Given the description of an element on the screen output the (x, y) to click on. 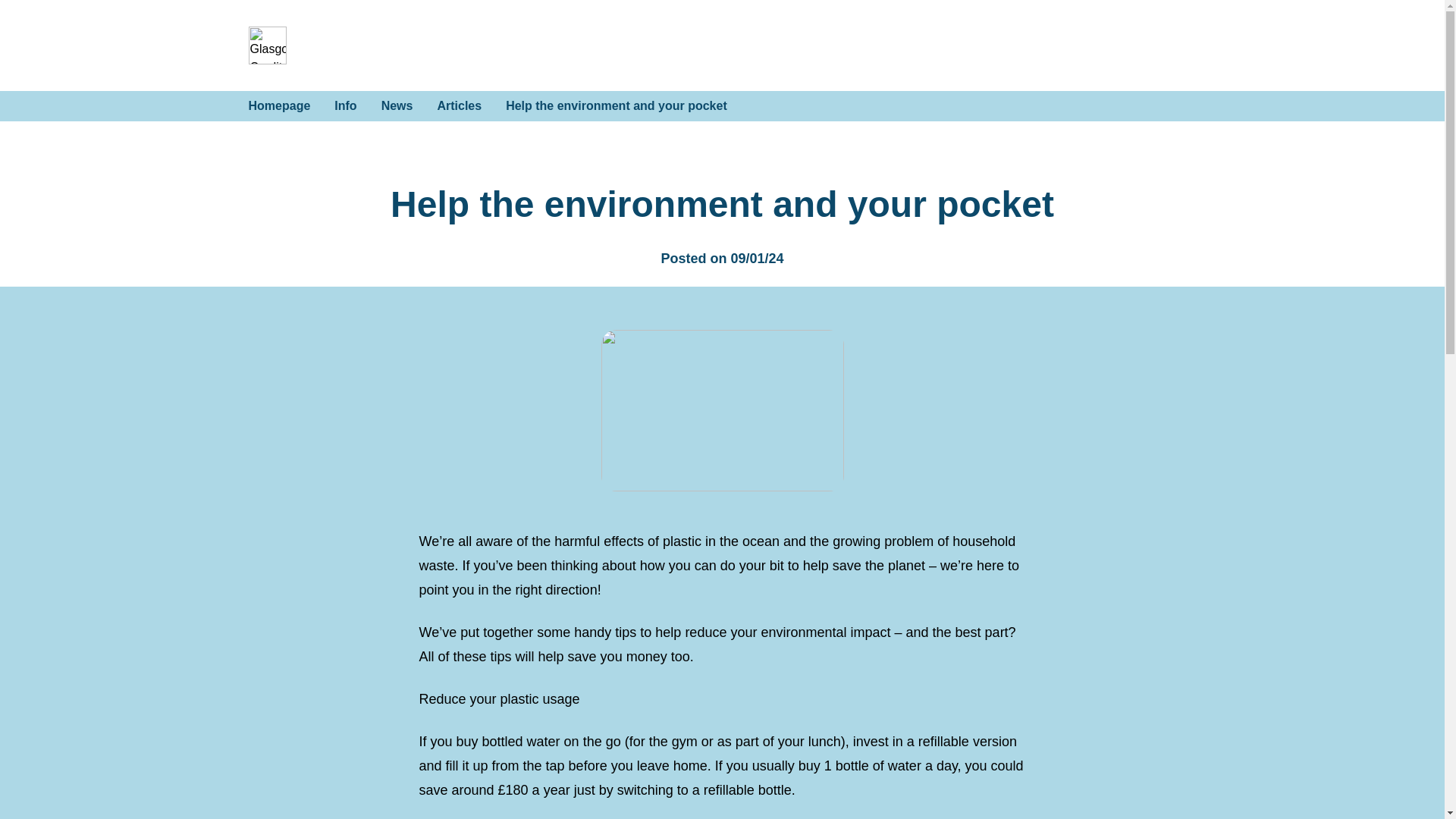
Skip to main content (253, 31)
Homepage (279, 105)
Articles (458, 105)
News (397, 105)
Info (345, 105)
